Given the description of an element on the screen output the (x, y) to click on. 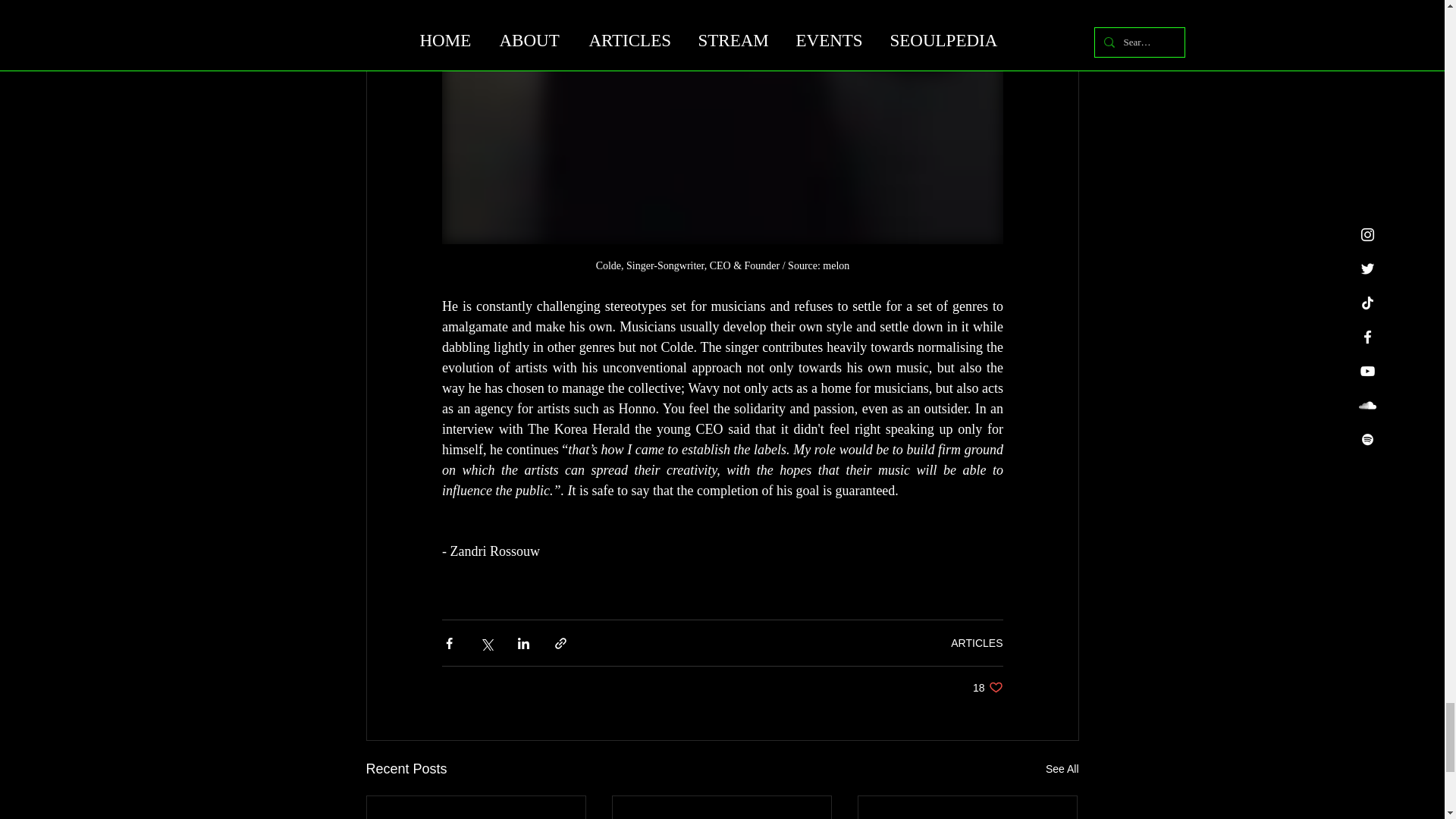
See All (987, 687)
ARTICLES (1061, 769)
